Given the description of an element on the screen output the (x, y) to click on. 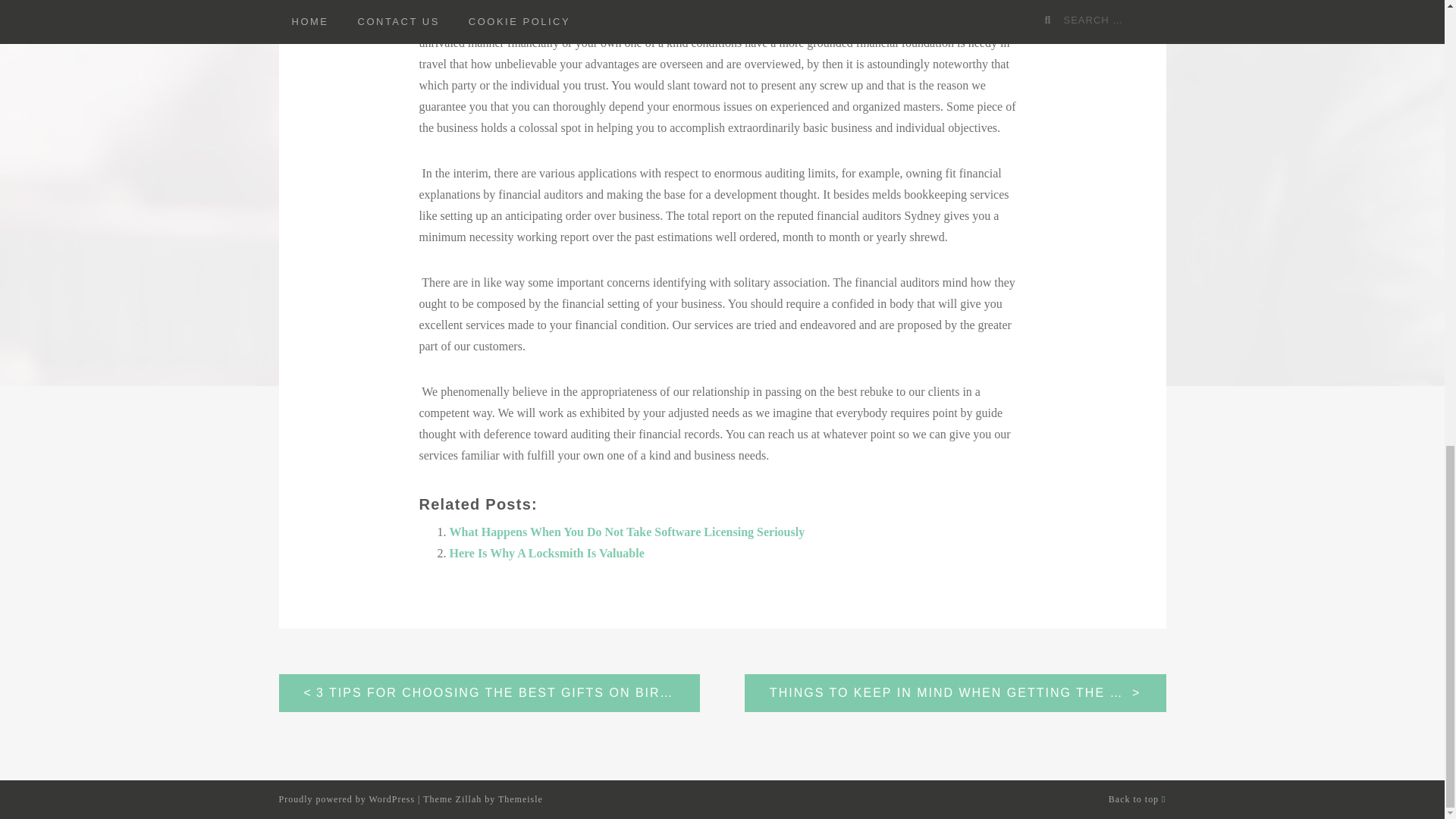
Back to top (1137, 798)
3 TIPS FOR CHOOSING THE BEST GIFTS ON BIRTHDAY (489, 692)
Here Is Why A Locksmith Is Valuable (545, 553)
Here Is Why A Locksmith Is Valuable (545, 553)
